Given the description of an element on the screen output the (x, y) to click on. 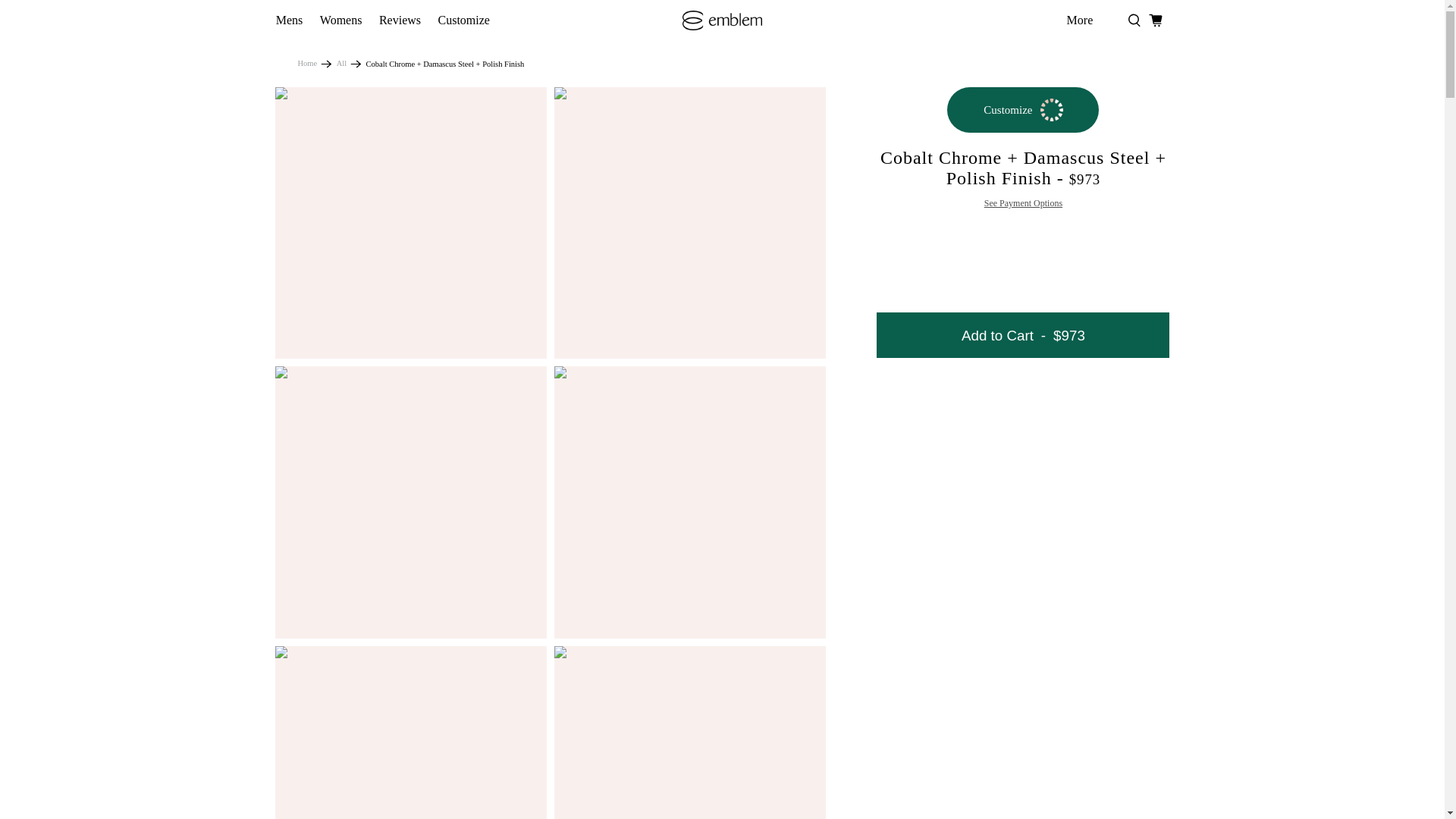
More (1079, 20)
Emblem (721, 19)
Reviews (400, 20)
Customize (463, 20)
Womens (341, 20)
Mens (288, 20)
Home (307, 63)
Emblem (307, 63)
